Given the description of an element on the screen output the (x, y) to click on. 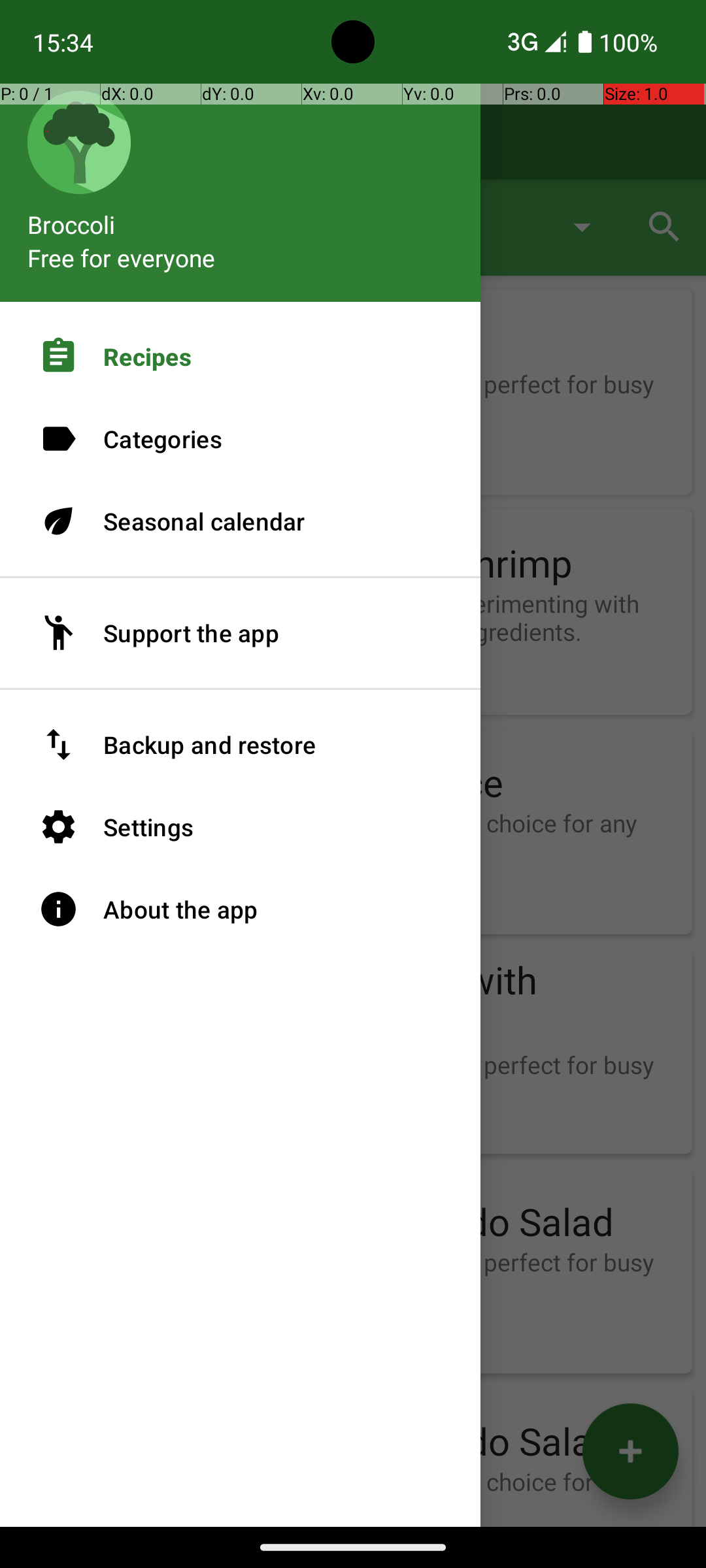
Broccoli Element type: android.widget.TextView (240, 217)
Free for everyone Element type: android.widget.TextView (121, 257)
Seasonal calendar Element type: android.widget.CheckedTextView (239, 521)
Support the app Element type: android.widget.CheckedTextView (239, 632)
Backup and restore Element type: android.widget.CheckedTextView (239, 744)
About the app Element type: android.widget.CheckedTextView (239, 909)
